Given the description of an element on the screen output the (x, y) to click on. 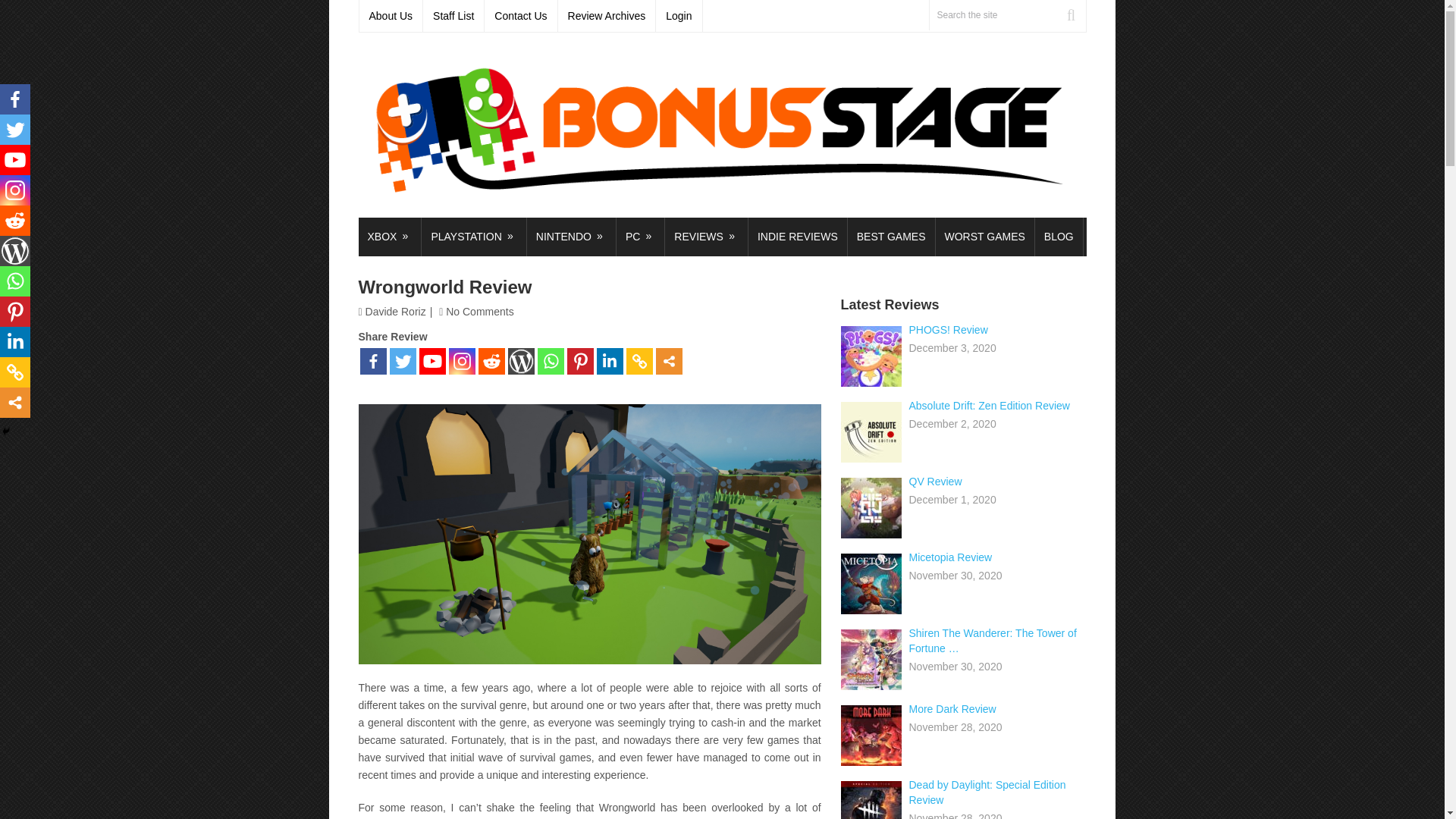
REVIEWS (706, 236)
Login (678, 15)
About Us (391, 15)
Staff List (453, 15)
NINTENDO (571, 236)
XBOX (389, 236)
Contact Us (520, 15)
Review Archives (606, 15)
PLAYSTATION (473, 236)
PC (639, 236)
